Given the description of an element on the screen output the (x, y) to click on. 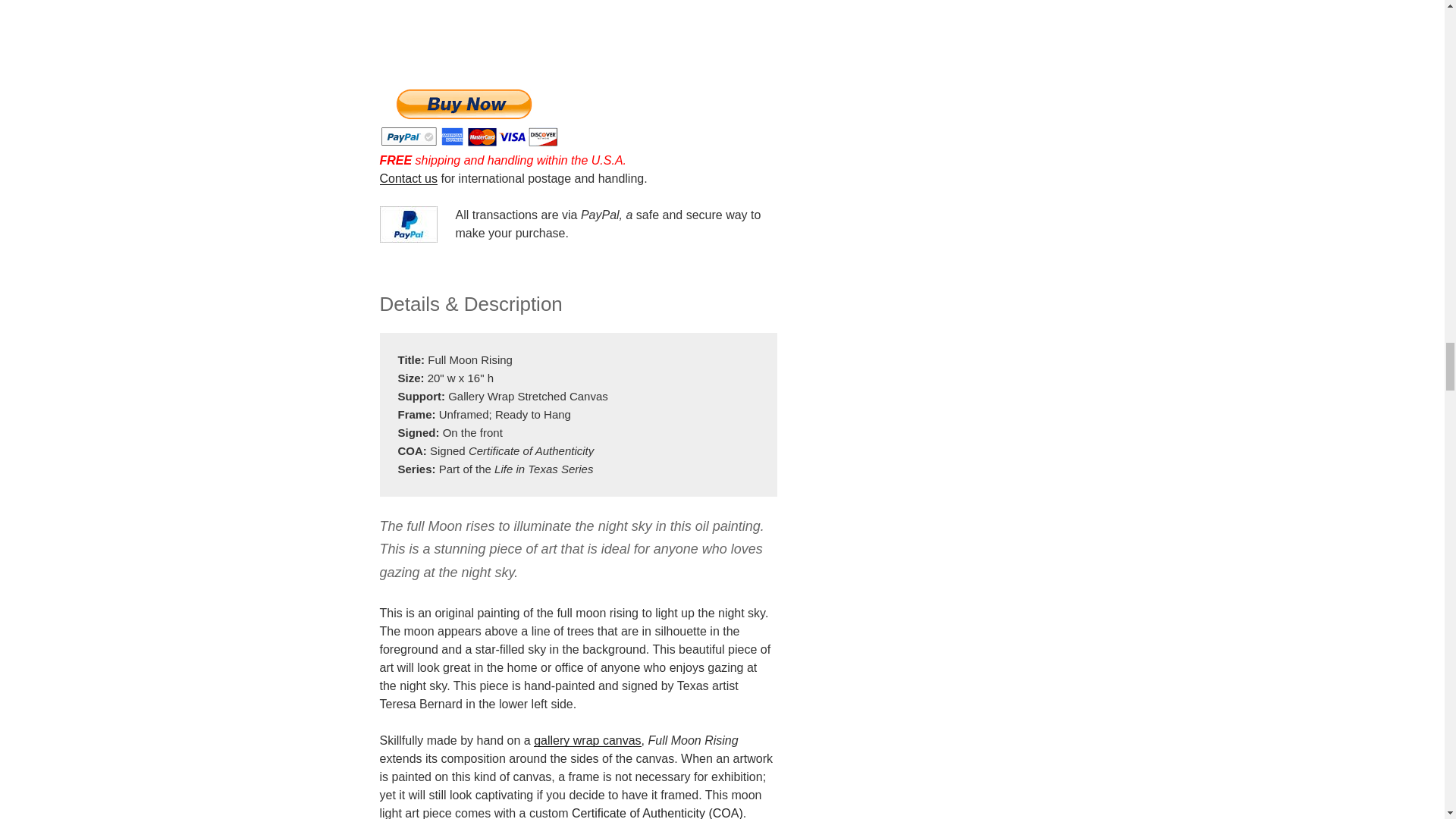
PayPal - The safer, easier way to pay online! (467, 117)
